Given the description of an element on the screen output the (x, y) to click on. 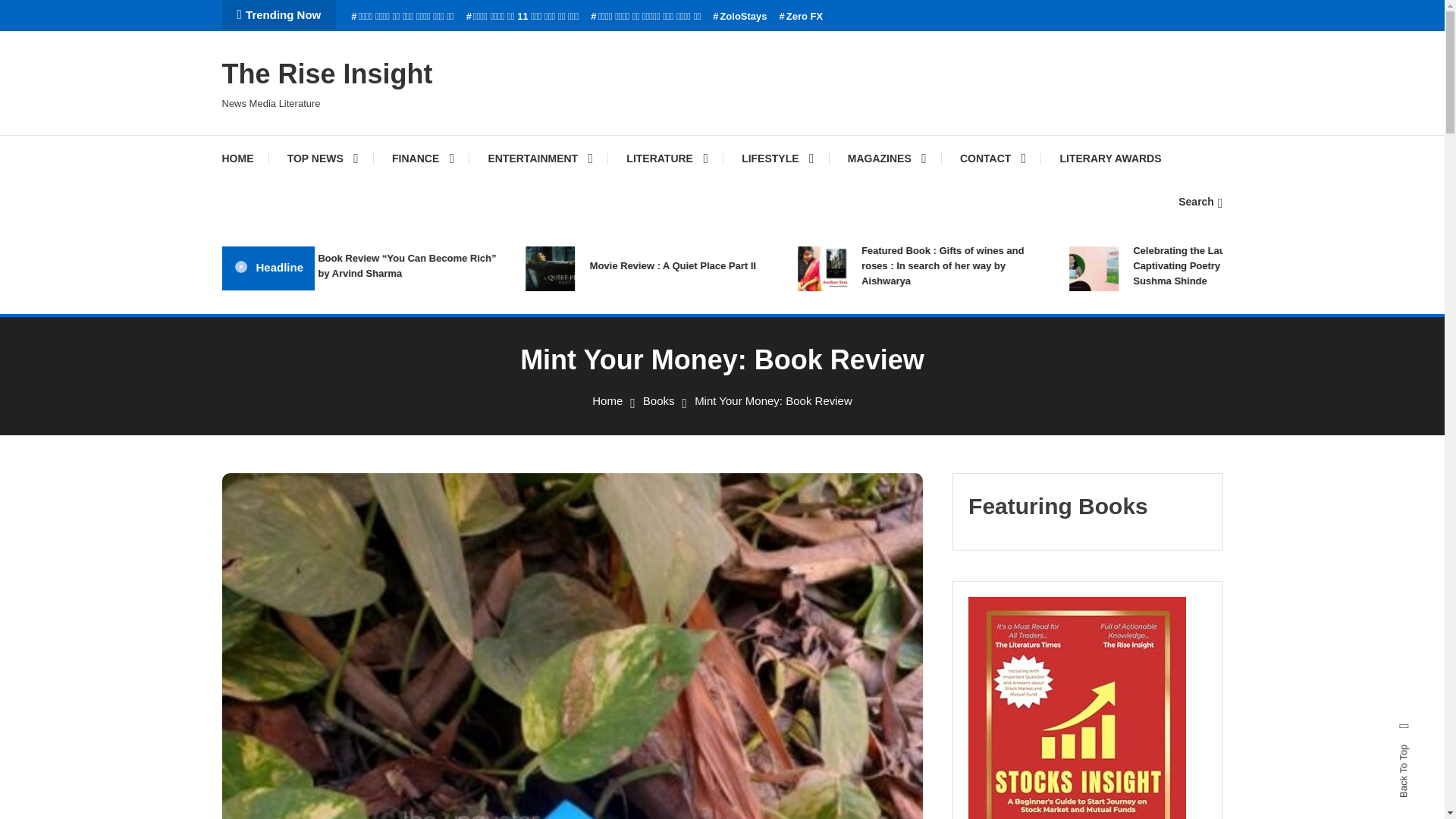
HOME (244, 157)
ZoloStays (740, 16)
MAGAZINES (887, 157)
LIFESTYLE (777, 157)
TOP NEWS (323, 157)
The Rise Insight (326, 73)
LITERATURE (667, 157)
Zero FX (801, 16)
ENTERTAINMENT (539, 157)
FINANCE (422, 157)
